Given the description of an element on the screen output the (x, y) to click on. 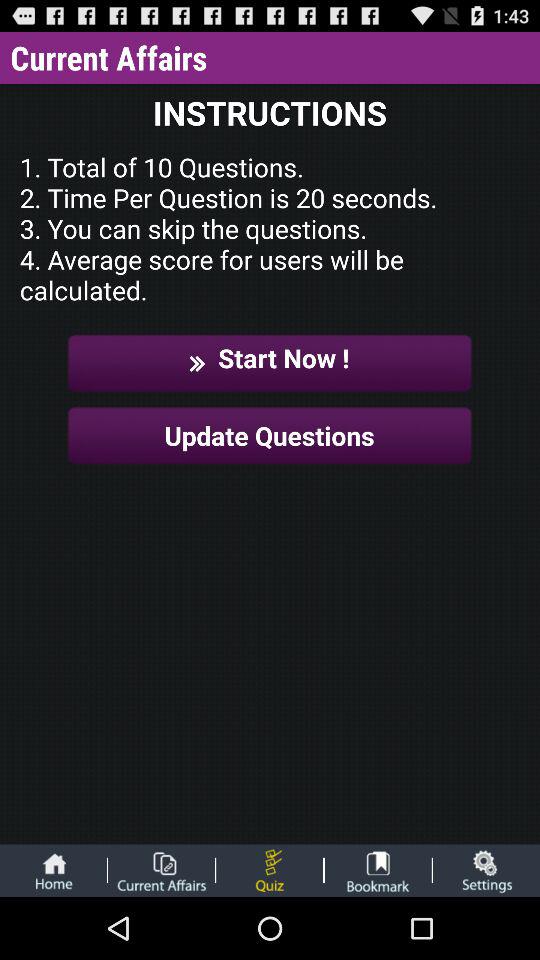
go to settings (486, 870)
